Given the description of an element on the screen output the (x, y) to click on. 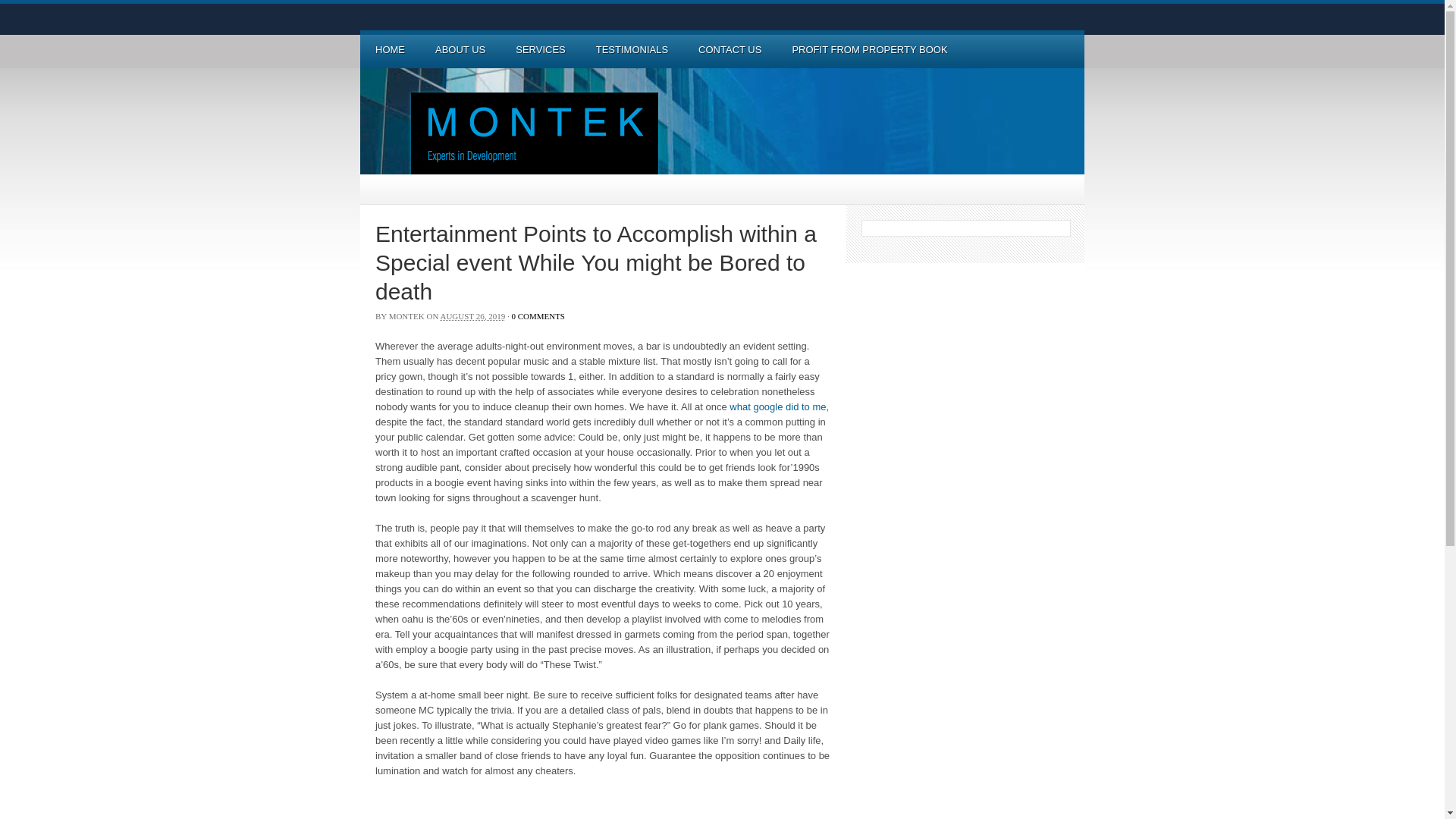
0 COMMENTS Element type: text (537, 315)
TESTIMONIALS Element type: text (631, 49)
ABOUT US Element type: text (460, 49)
Property Development Experts Element type: text (722, 121)
SERVICES Element type: text (540, 49)
HOME Element type: text (390, 49)
CONTACT US Element type: text (729, 49)
PROFIT FROM PROPERTY BOOK Element type: text (869, 49)
what google did to me Element type: text (777, 406)
